Given the description of an element on the screen output the (x, y) to click on. 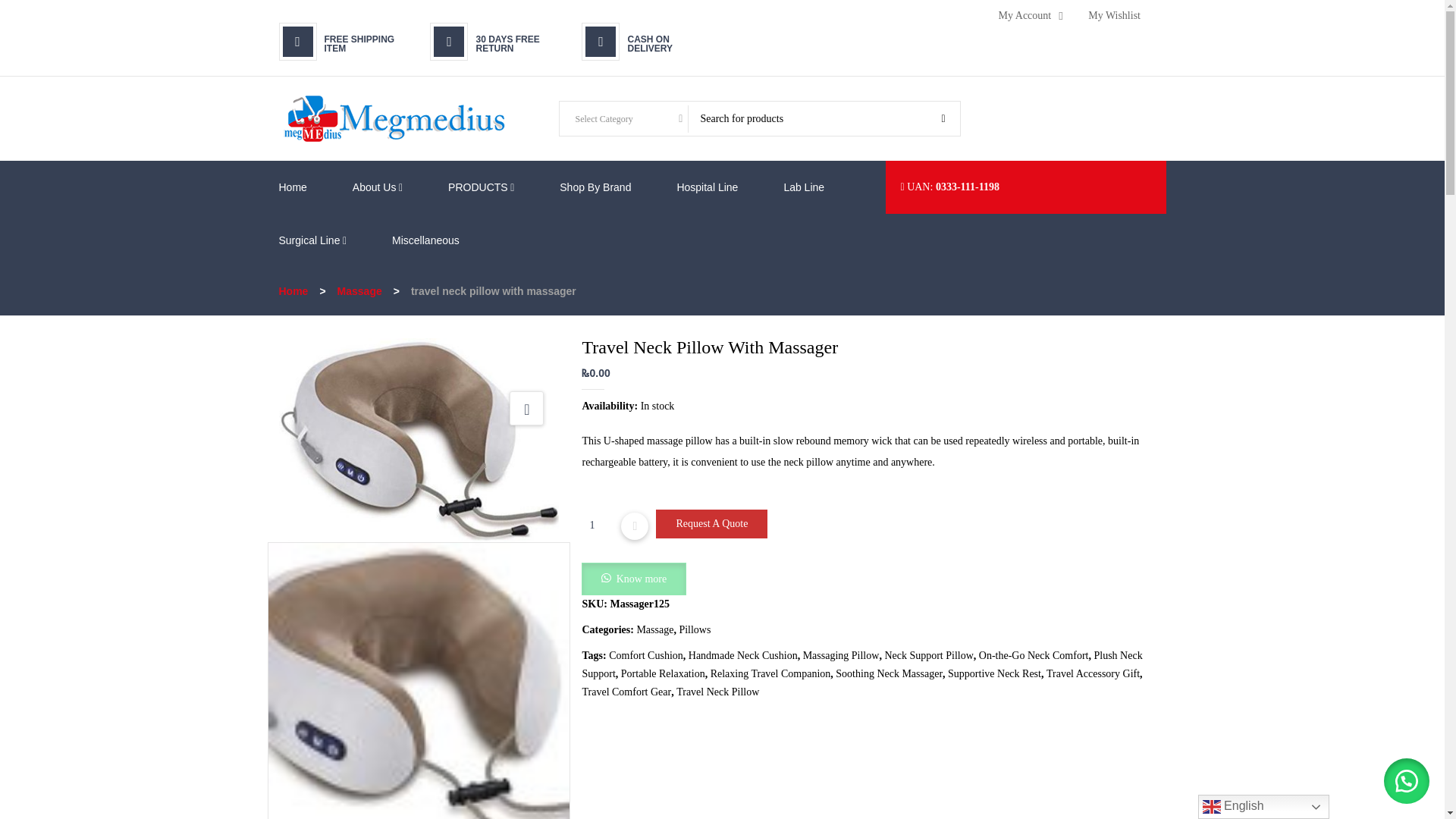
1 (596, 525)
